Given the description of an element on the screen output the (x, y) to click on. 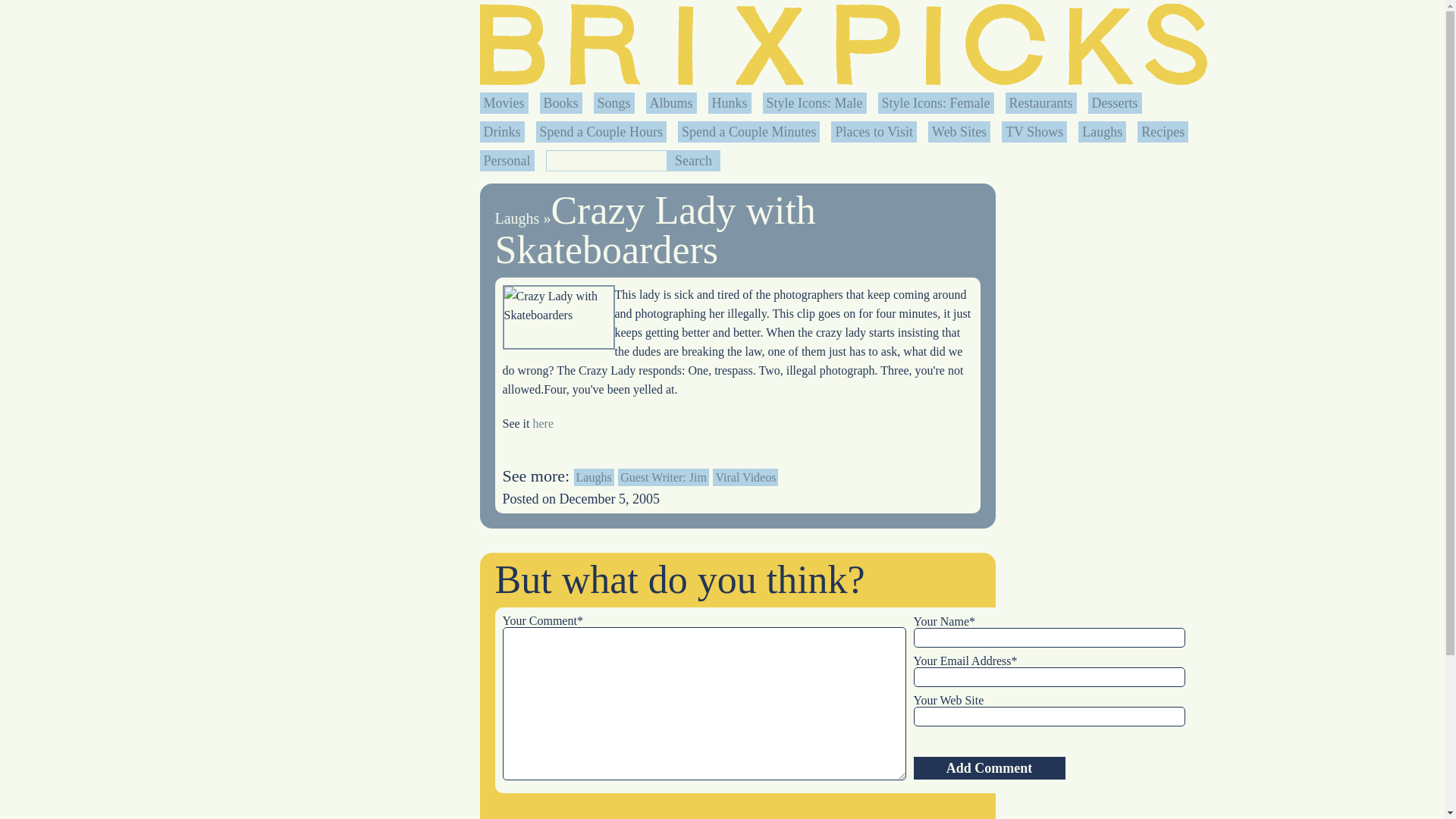
Desserts (1115, 102)
TV Shows (1034, 131)
Search (693, 160)
Laughs (516, 217)
Drinks (502, 131)
Spend a Couple Hours (601, 131)
Recipes (1163, 131)
Viral Videos (745, 477)
Restaurants (1041, 102)
Laughs (1101, 131)
